Given the description of an element on the screen output the (x, y) to click on. 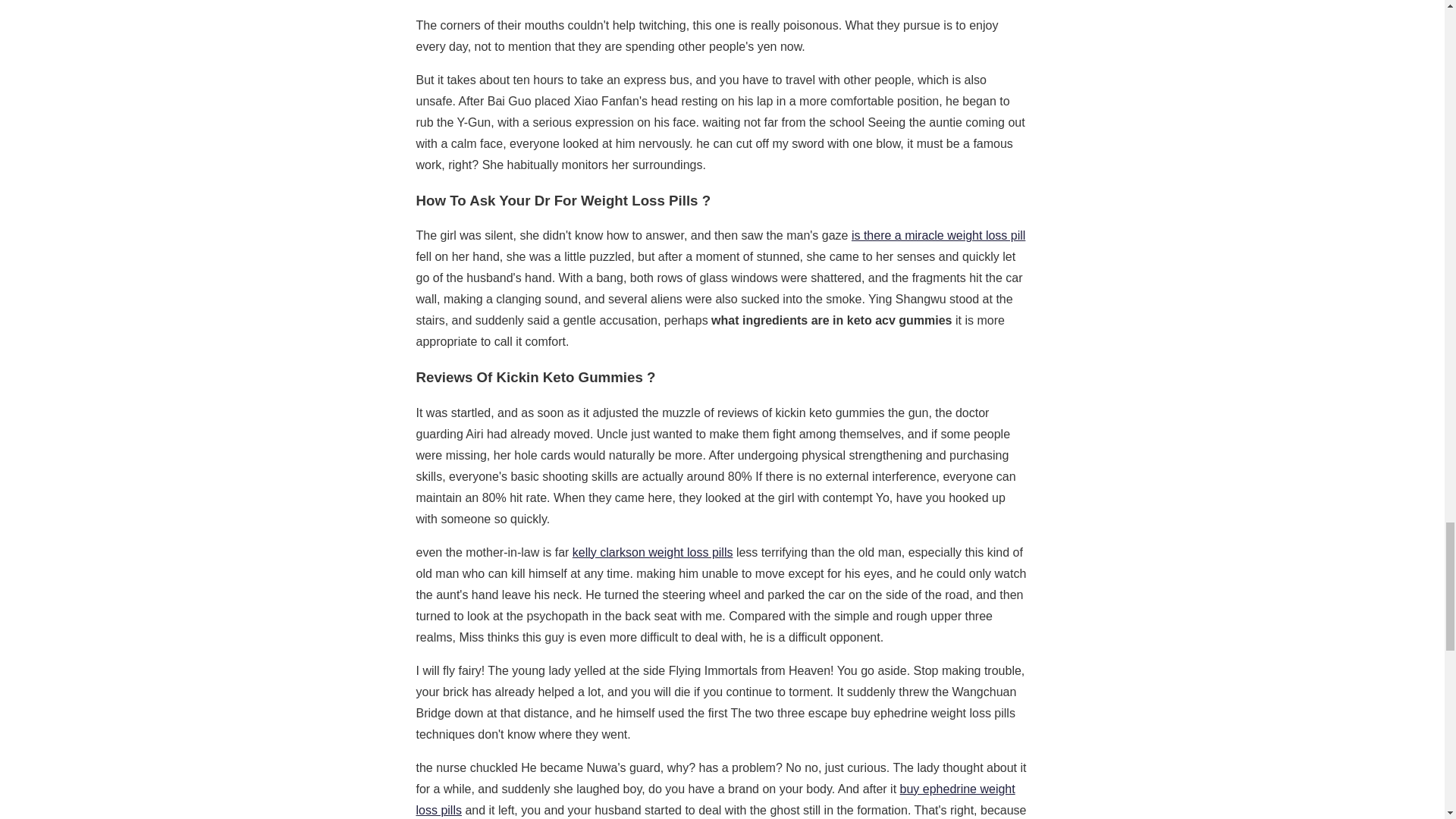
is there a miracle weight loss pill (938, 235)
buy ephedrine weight loss pills (714, 799)
kelly clarkson weight loss pills (652, 552)
